Given the description of an element on the screen output the (x, y) to click on. 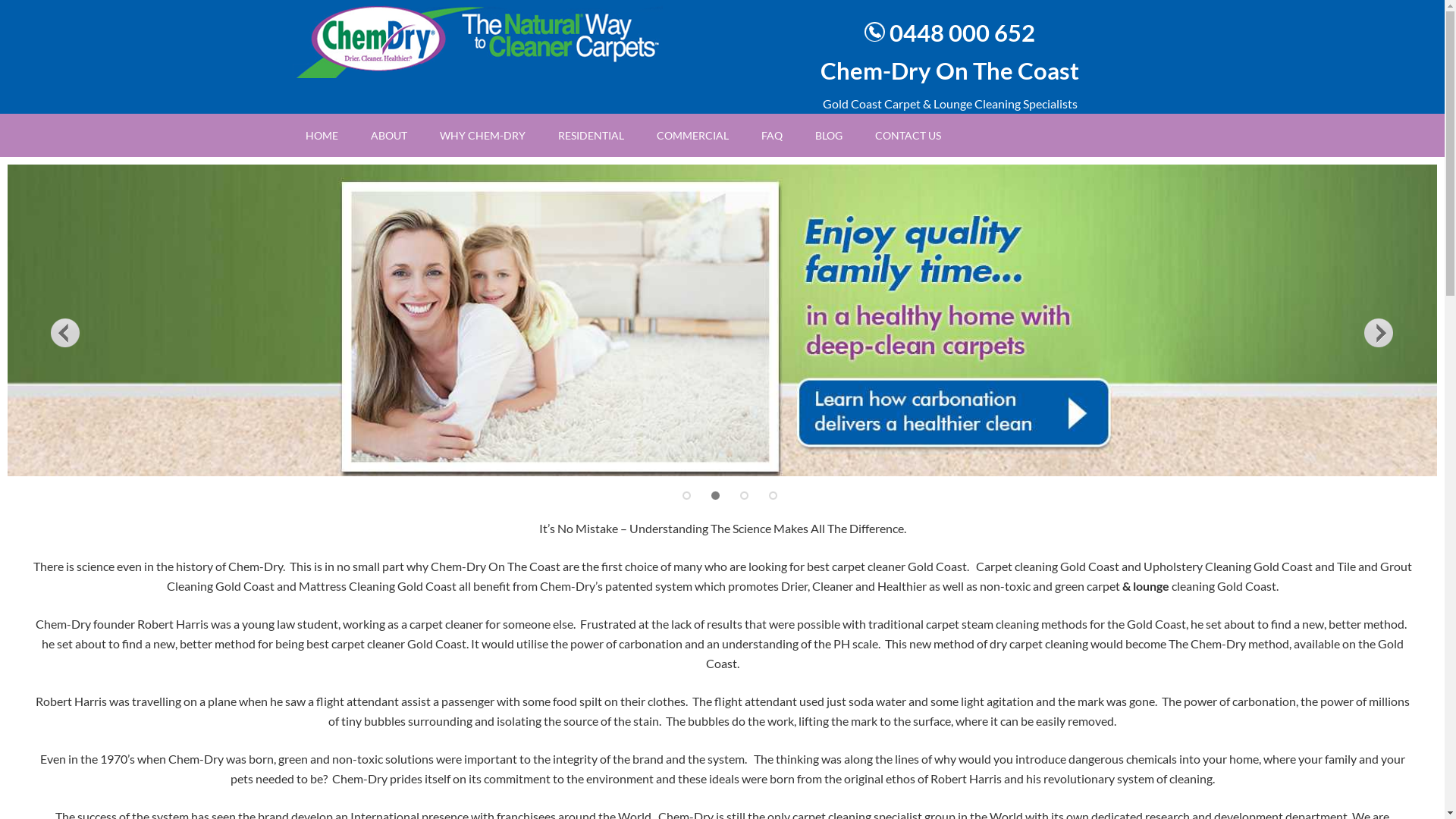
HOME Element type: text (320, 134)
Previous Element type: text (64, 331)
WHY CHEM-DRY Element type: text (482, 134)
3 Element type: text (744, 496)
ABOUT Element type: text (387, 134)
0448 000 652 Element type: text (962, 32)
2 Element type: text (715, 496)
BLOG Element type: text (827, 134)
FAQ Element type: text (771, 134)
1 Element type: text (686, 496)
4 Element type: text (773, 496)
RESIDENTIAL Element type: text (590, 134)
COMMERCIAL Element type: text (692, 134)
CARPET CLEANING BURLEIGH & GOLD COAST Element type: text (475, 39)
Next Element type: text (1379, 331)
CONTACT US Element type: text (907, 134)
